Given the description of an element on the screen output the (x, y) to click on. 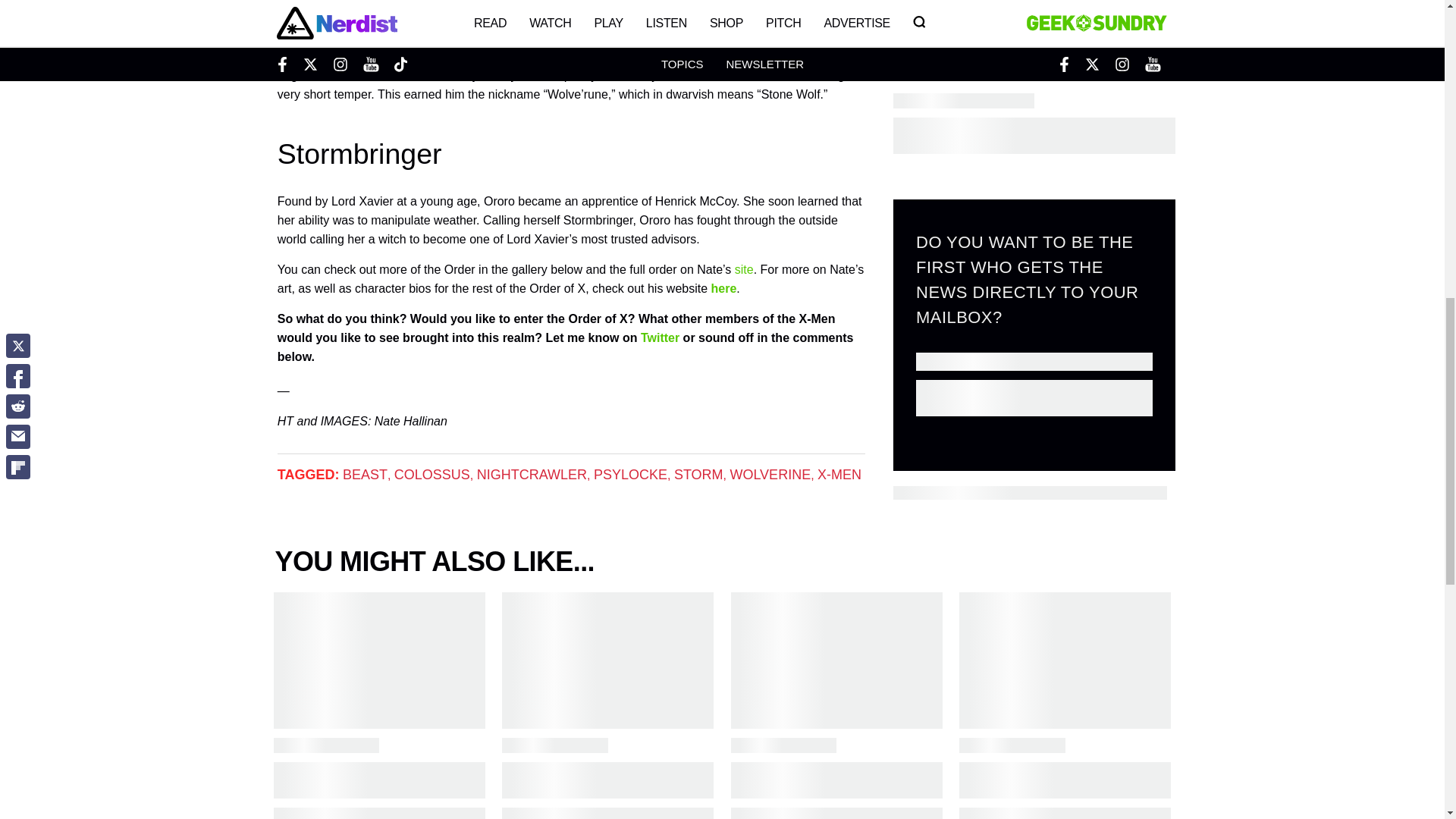
Twitter (659, 337)
here (723, 287)
COLOSSUS (432, 474)
BEAST (364, 474)
PSYLOCKE (630, 474)
site (744, 269)
NIGHTCRAWLER (531, 474)
STORM (698, 474)
